Given the description of an element on the screen output the (x, y) to click on. 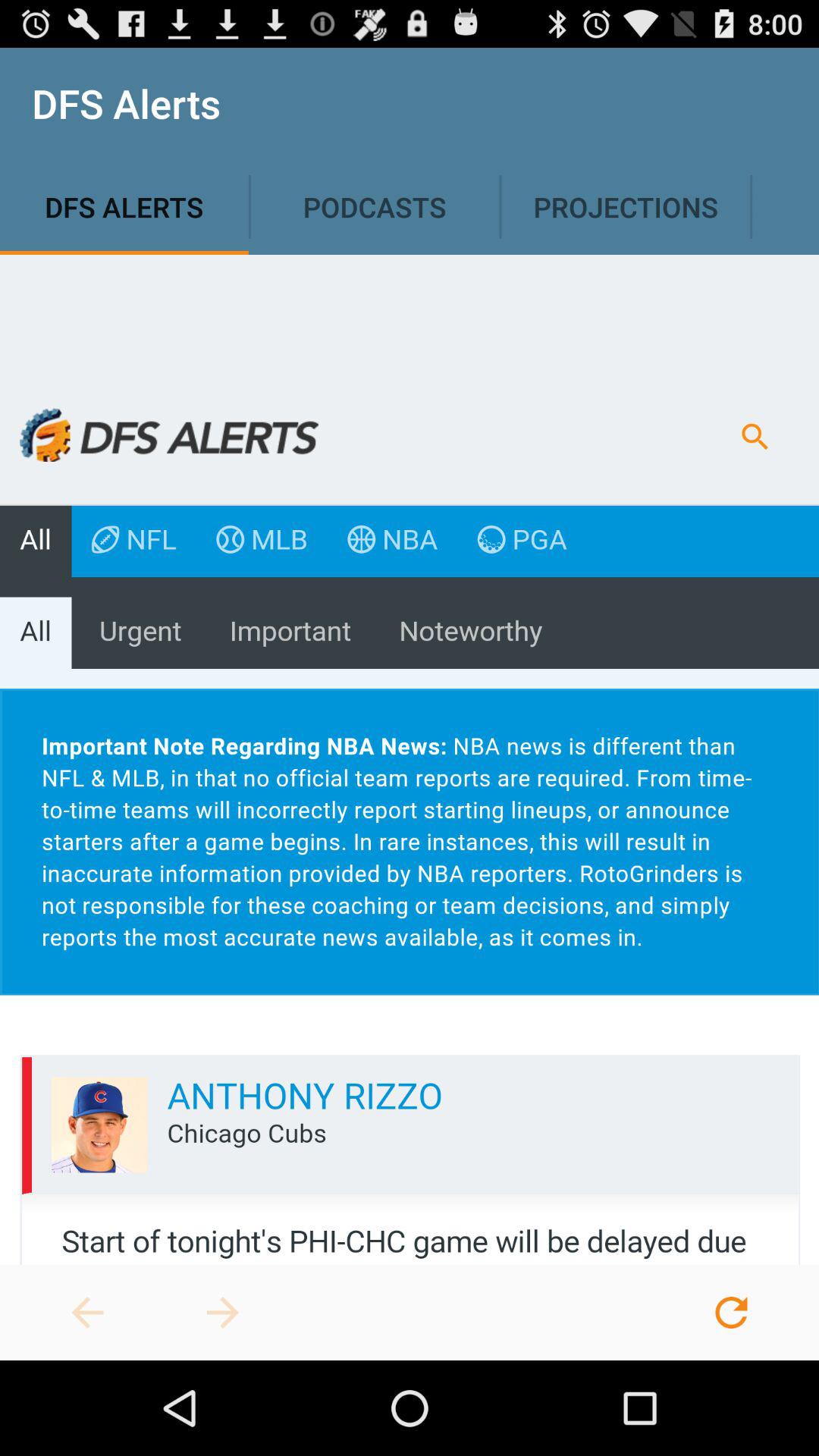
reload (731, 1312)
